Given the description of an element on the screen output the (x, y) to click on. 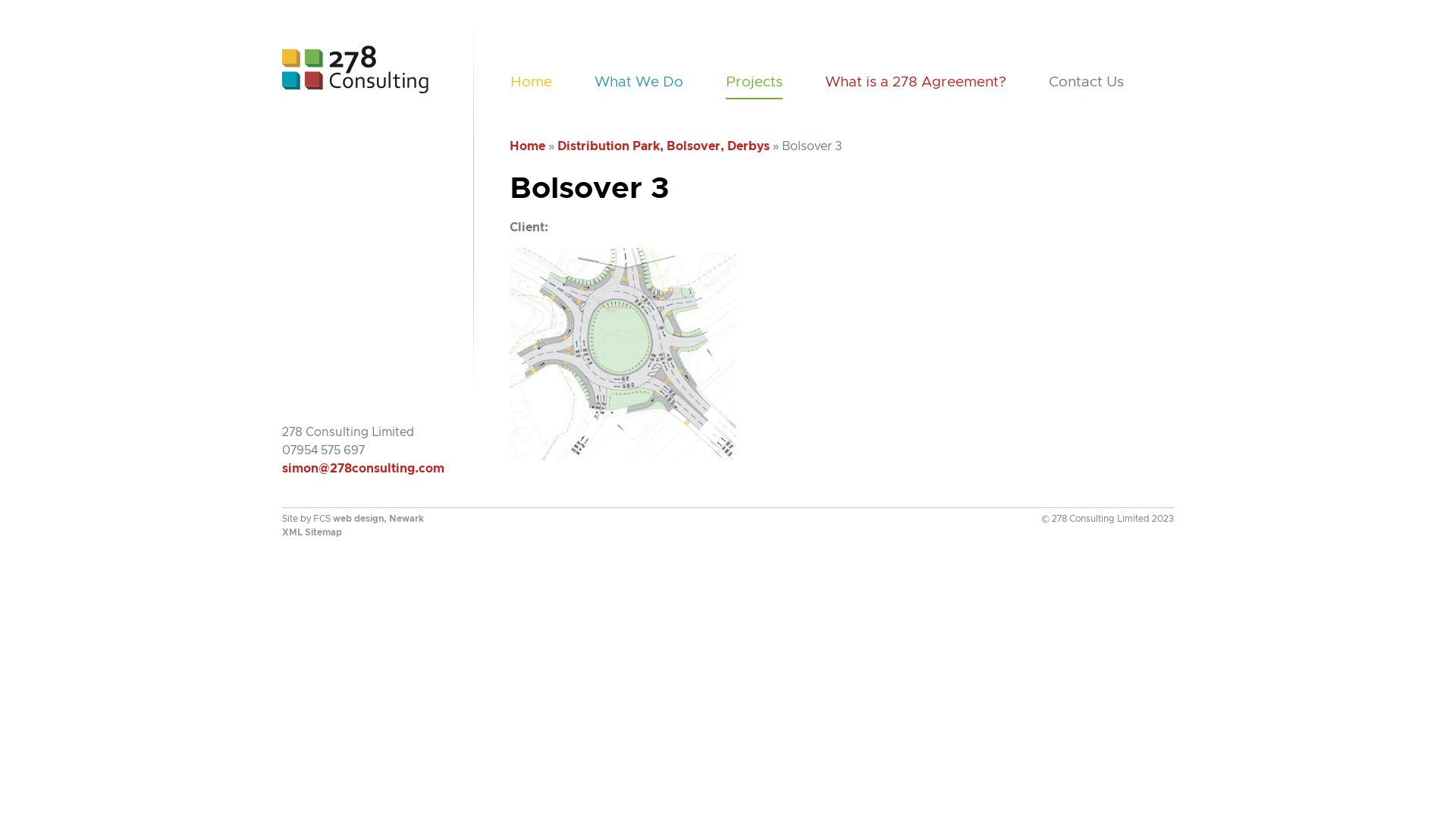
Contact Us Element type: text (1085, 85)
What We Do Element type: text (638, 85)
What is a 278 Agreement? Element type: text (915, 85)
Projects Element type: text (753, 85)
XML Sitemap Element type: text (312, 531)
Home Element type: text (527, 145)
simon@278consulting.com Element type: text (363, 468)
Home Element type: text (531, 85)
web design, Newark Element type: text (377, 518)
Distribution Park, Bolsover, Derbys Element type: text (663, 145)
